Given the description of an element on the screen output the (x, y) to click on. 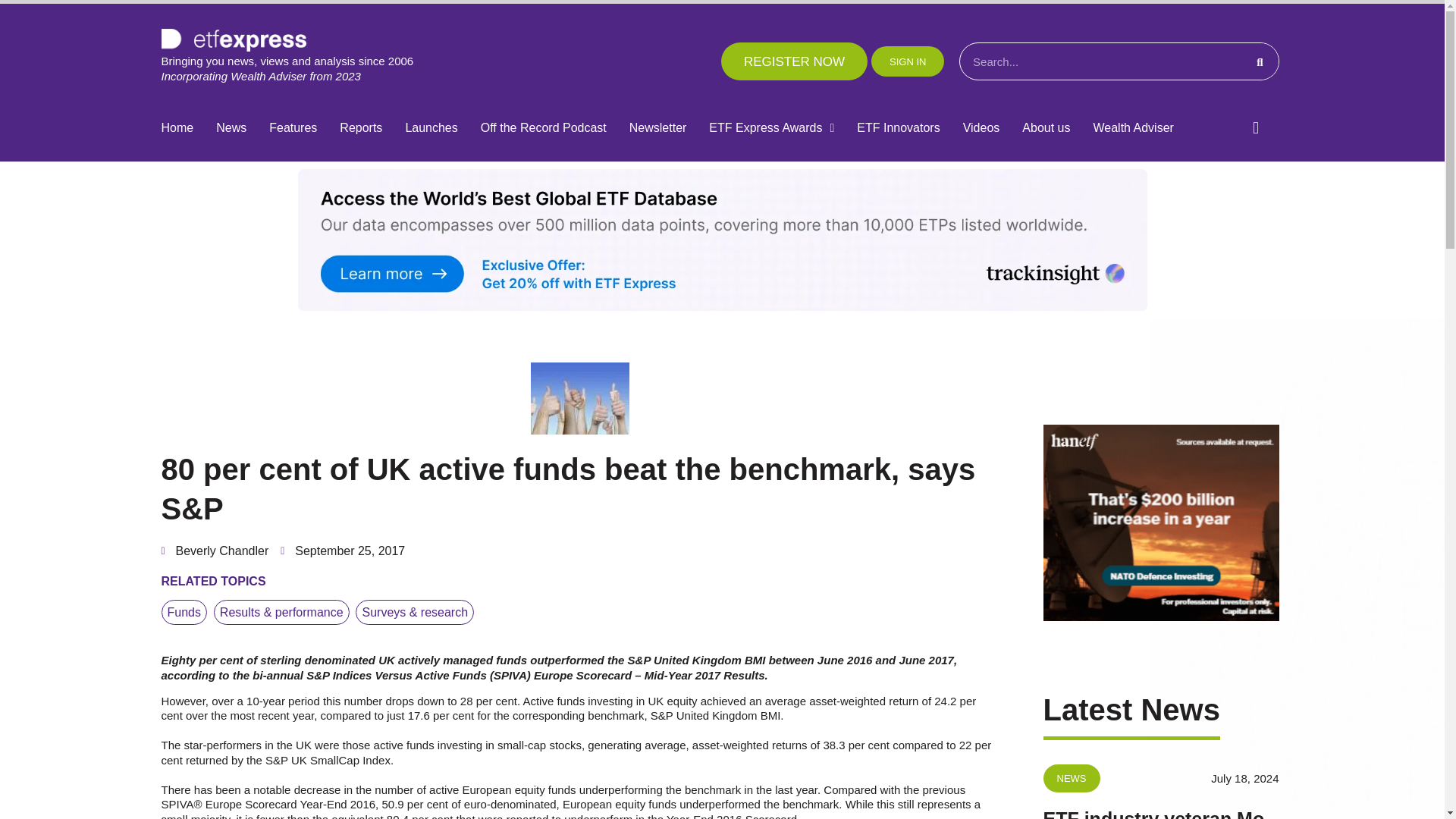
SIGN IN (906, 60)
REGISTER NOW (793, 61)
Features (293, 128)
